Given the description of an element on the screen output the (x, y) to click on. 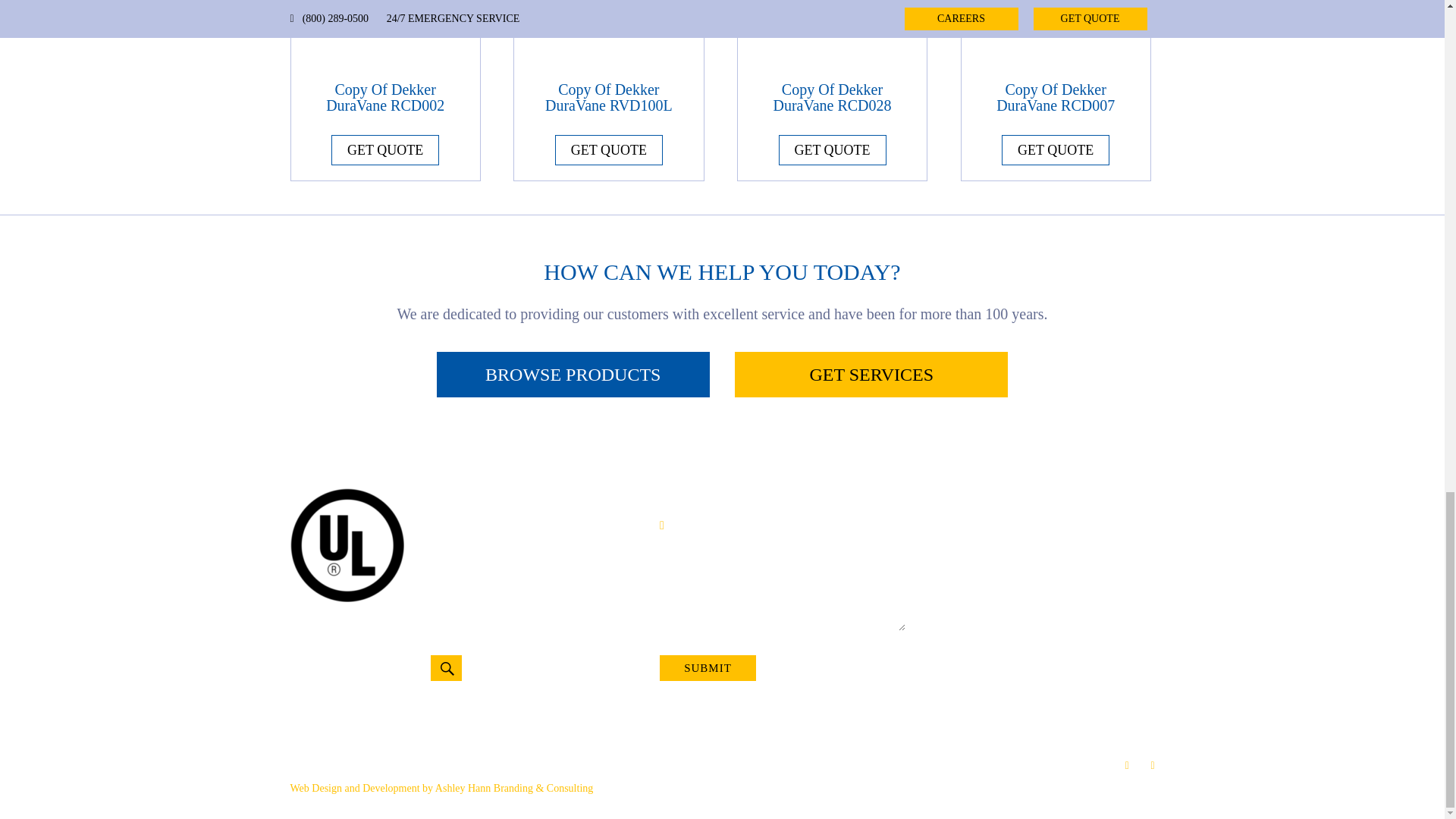
Copy Of Dekker DuraVane RCD002 (384, 60)
SUBMIT (707, 667)
GET QUOTE (385, 150)
GET QUOTE (608, 150)
Copy Of Dekker DuraVane RVD100L (608, 60)
